Given the description of an element on the screen output the (x, y) to click on. 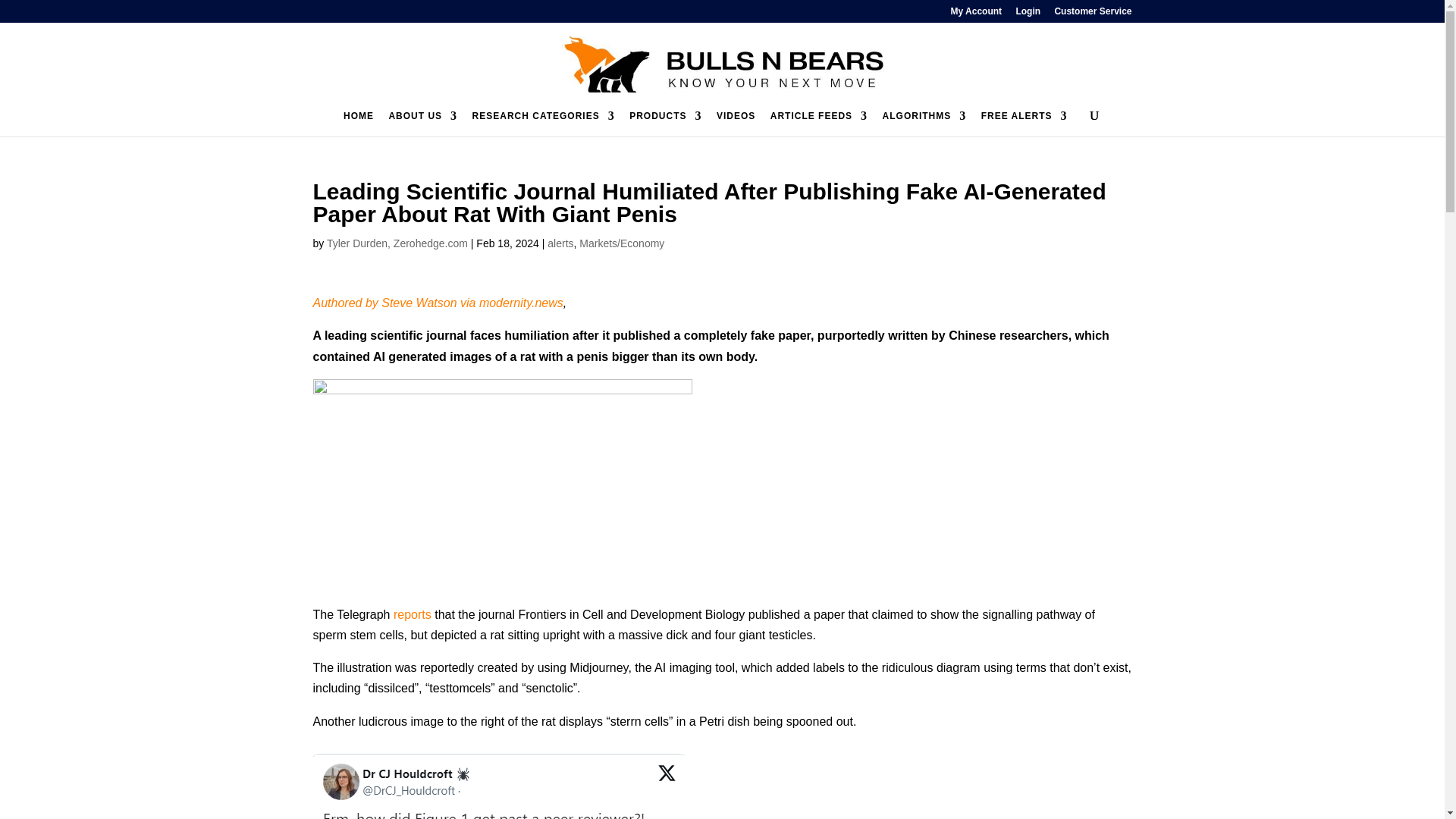
ABOUT US (422, 123)
VIDEOS (735, 123)
ARTICLE FEEDS (818, 123)
Login (1027, 14)
Tweet (498, 786)
RESEARCH CATEGORIES (542, 123)
Posts by Tyler Durden, Zerohedge.com (396, 243)
Customer Service (1092, 14)
FREE ALERTS (1024, 123)
PRODUCTS (664, 123)
HOME (358, 123)
ALGORITHMS (924, 123)
My Account (976, 14)
